Given the description of an element on the screen output the (x, y) to click on. 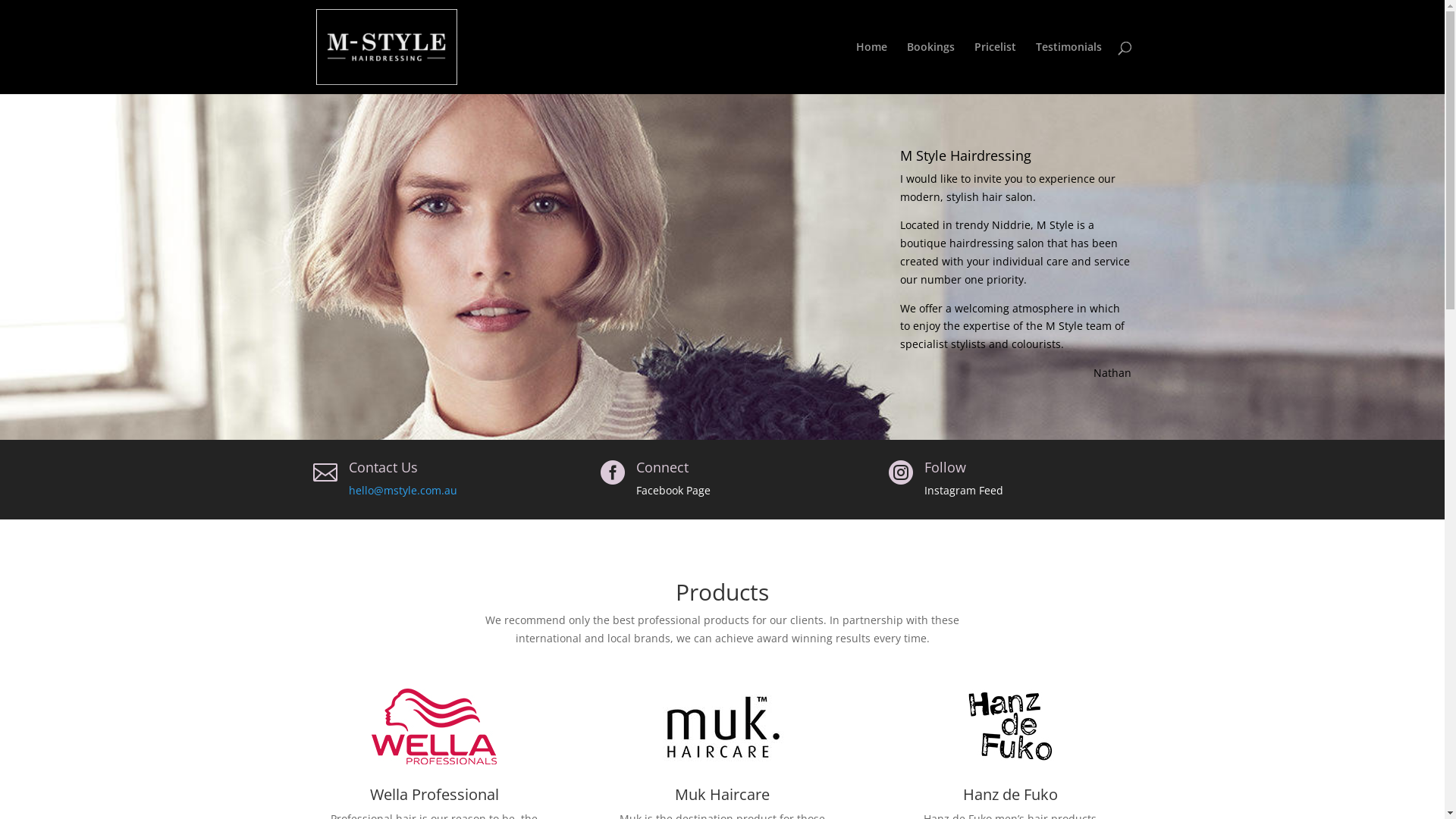
Connect Element type: text (662, 467)
Follow Element type: text (945, 467)
M Style Hairdressing Element type: text (965, 155)
Bookings Element type: text (930, 67)
hello@mstyle.com.au Element type: text (402, 490)
Contact Us Element type: text (382, 467)
Testimonials Element type: text (1068, 67)
Home Element type: text (870, 67)
Pricelist Element type: text (994, 67)
